Given the description of an element on the screen output the (x, y) to click on. 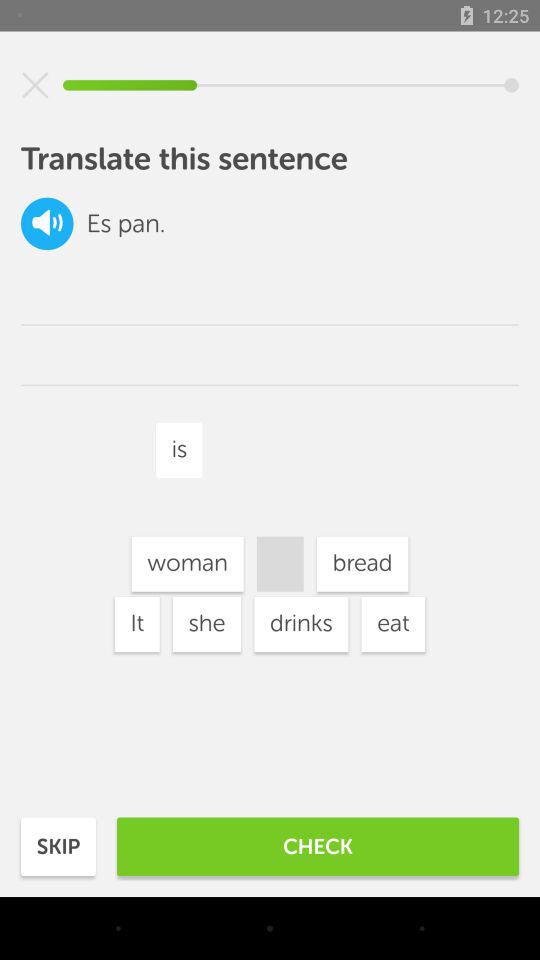
close window (35, 85)
